Given the description of an element on the screen output the (x, y) to click on. 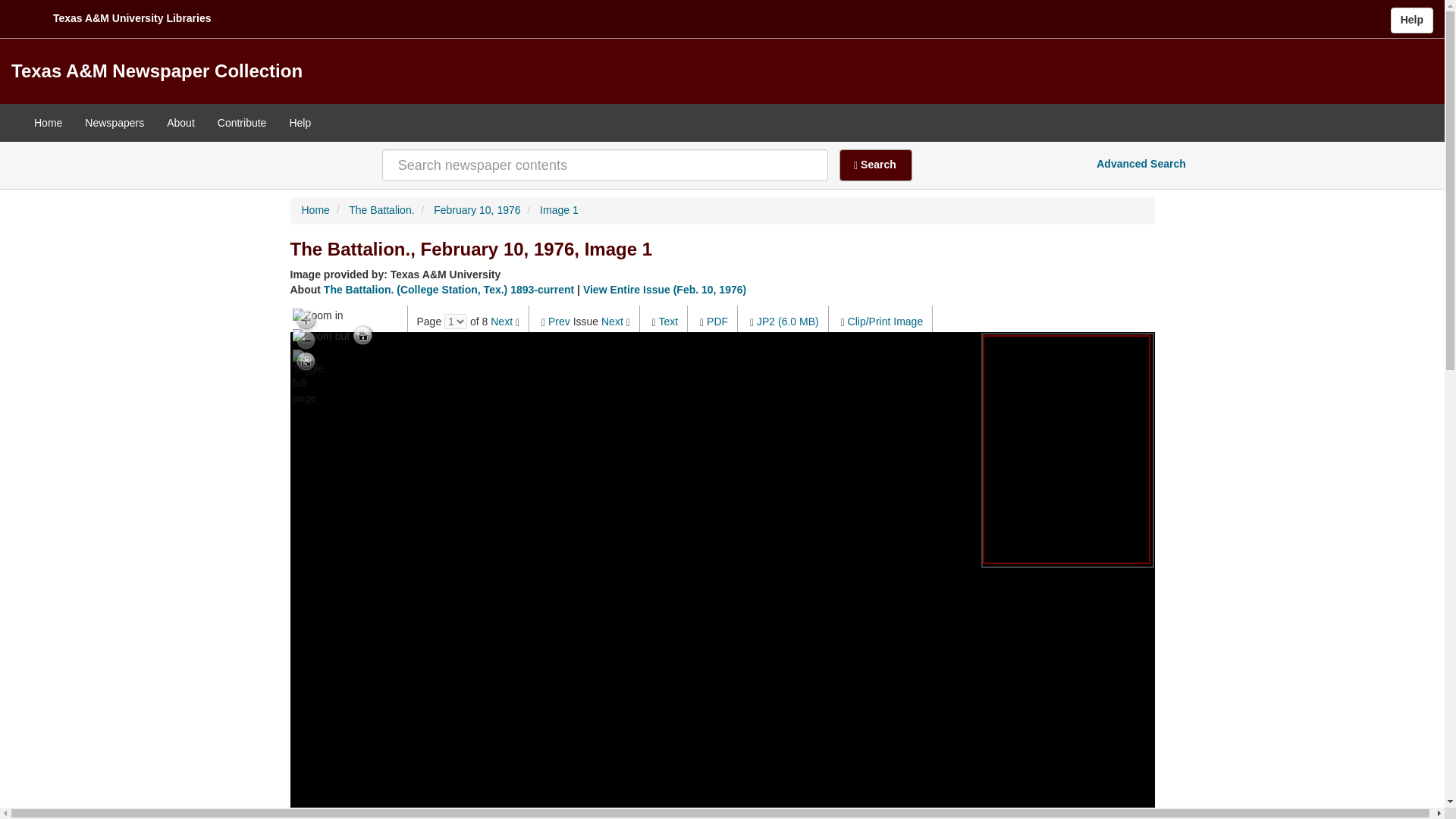
Image 1 (559, 209)
Next (501, 321)
Search (876, 164)
Toggle full page (305, 361)
The Battalion. (381, 209)
Zoom in (317, 314)
Advanced Search (1141, 163)
About (180, 122)
Help (1411, 20)
Home (315, 209)
Text (668, 321)
Prev (559, 321)
Zoom out (320, 335)
Newspapers (114, 122)
Home (48, 122)
